Given the description of an element on the screen output the (x, y) to click on. 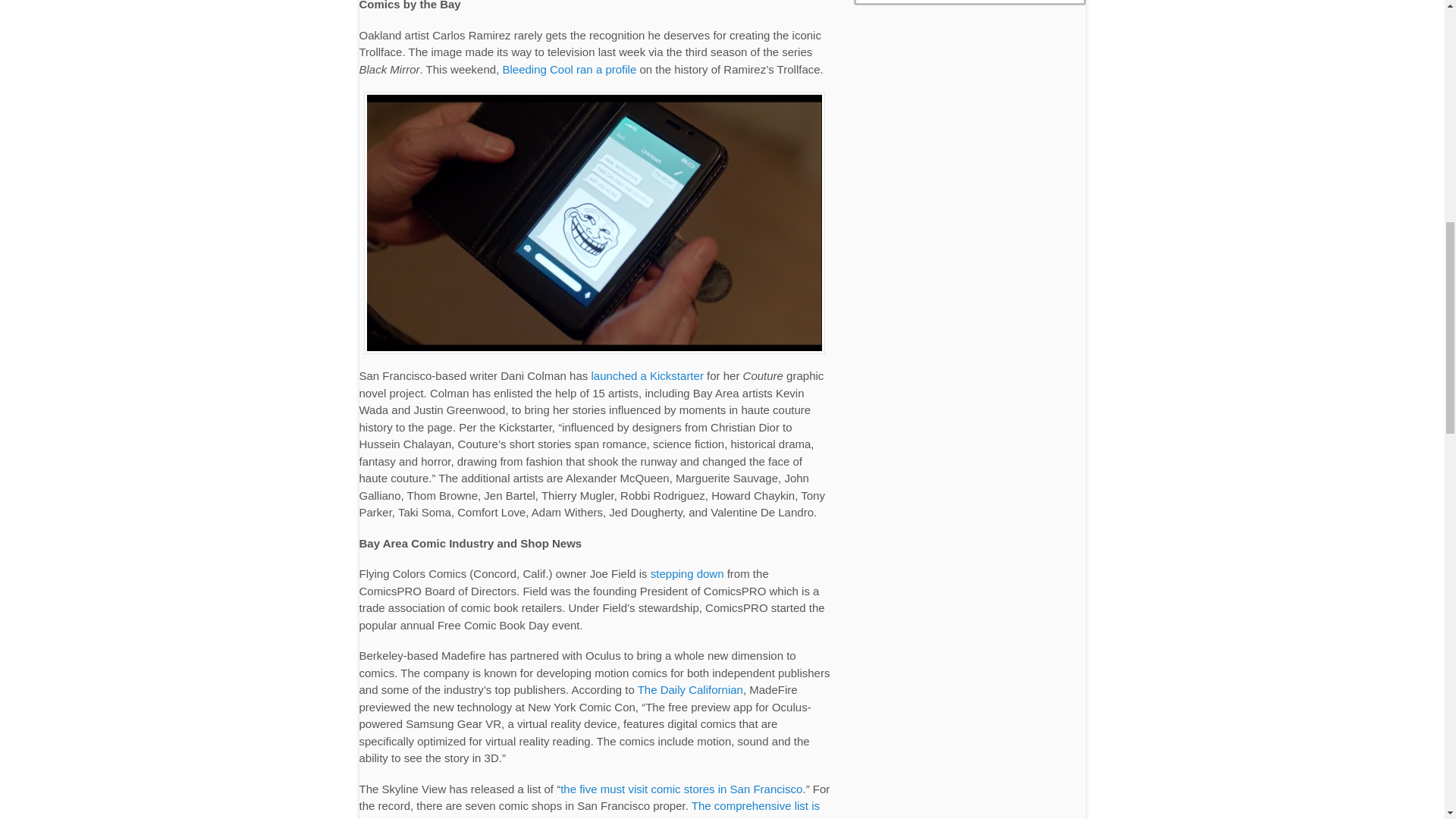
the five must visit comic stores in San Francisco (681, 788)
The Daily Californian (689, 689)
The comprehensive list is here (590, 809)
Bleeding Cool ran a profile (569, 69)
launched a Kickstarter (647, 375)
stepping down (686, 573)
